Given the description of an element on the screen output the (x, y) to click on. 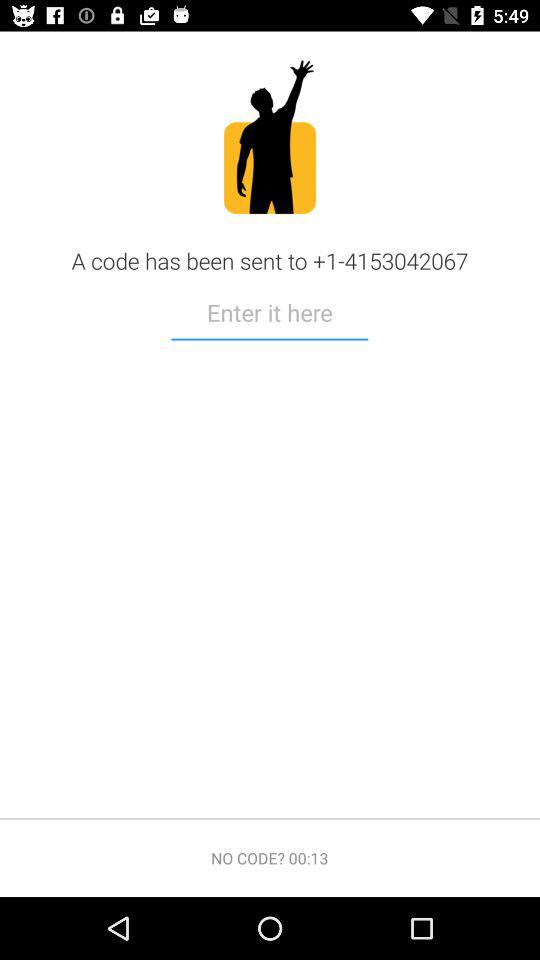
tap the item below the a code has (269, 315)
